Given the description of an element on the screen output the (x, y) to click on. 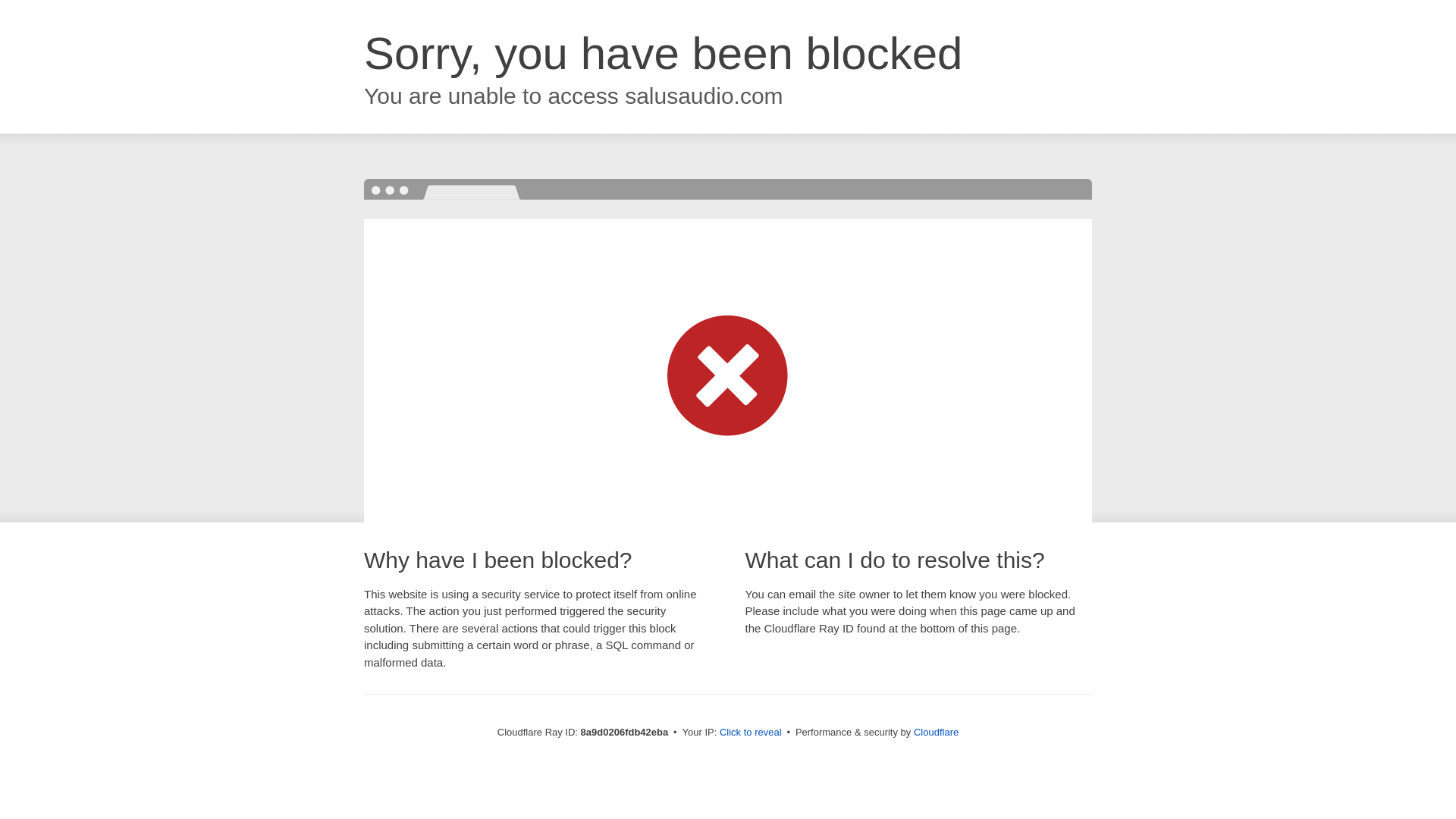
Cloudflare (936, 731)
Click to reveal (750, 732)
